Given the description of an element on the screen output the (x, y) to click on. 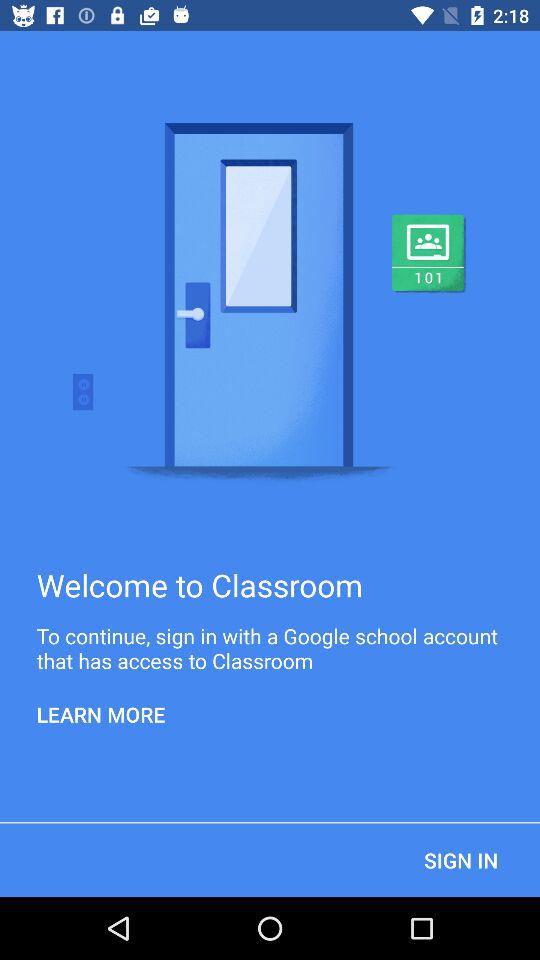
launch the learn more (101, 713)
